Given the description of an element on the screen output the (x, y) to click on. 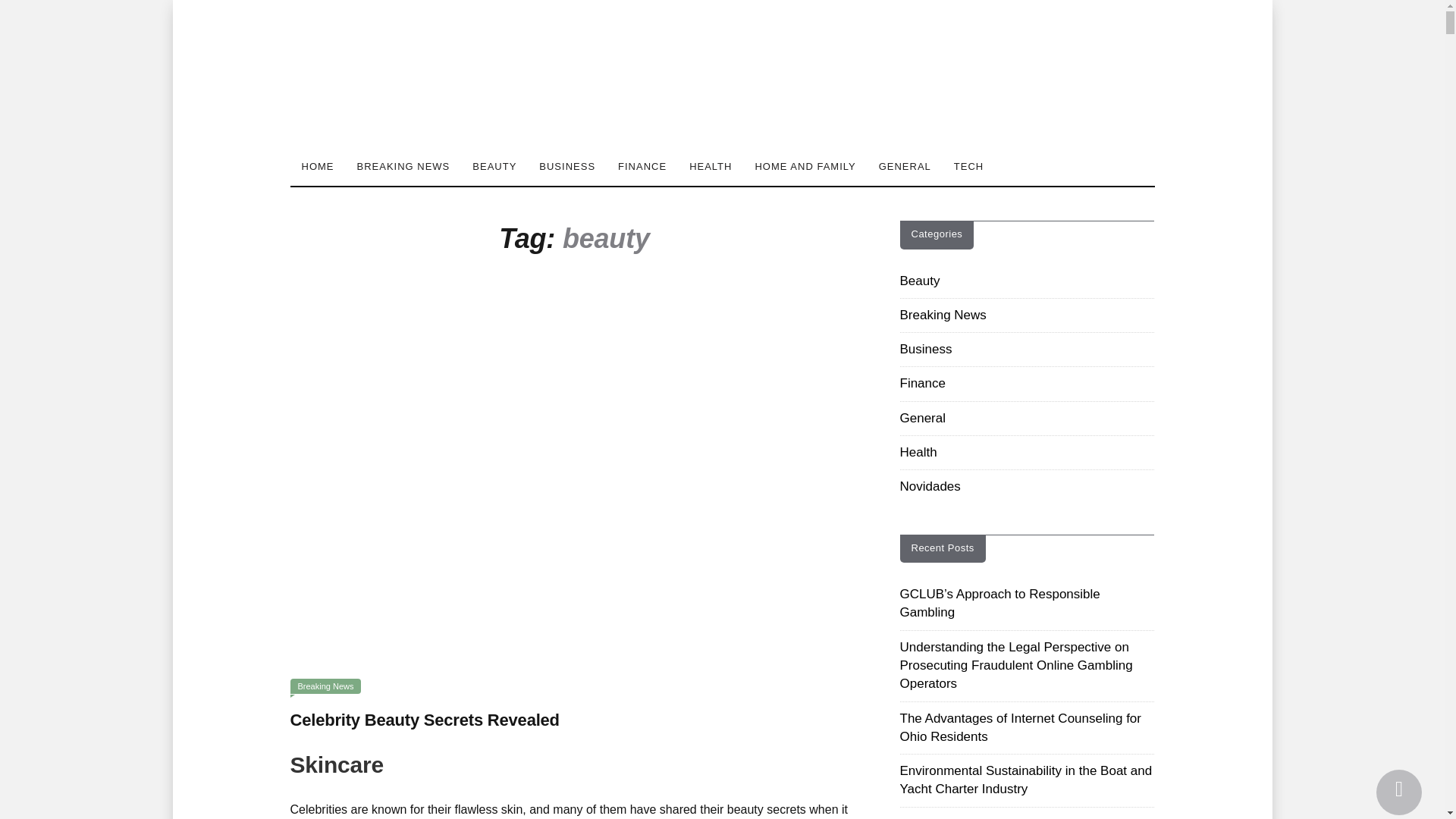
BREAKING NEWS (403, 166)
Celebrity Beauty Secrets Revealed (574, 472)
Breaking News (325, 686)
HEALTH (710, 166)
Beauty (494, 166)
Home and Family (804, 166)
GENERAL (904, 166)
FINANCE (642, 166)
Home (317, 166)
Celebrity Beauty Secrets Revealed (424, 719)
